Given the description of an element on the screen output the (x, y) to click on. 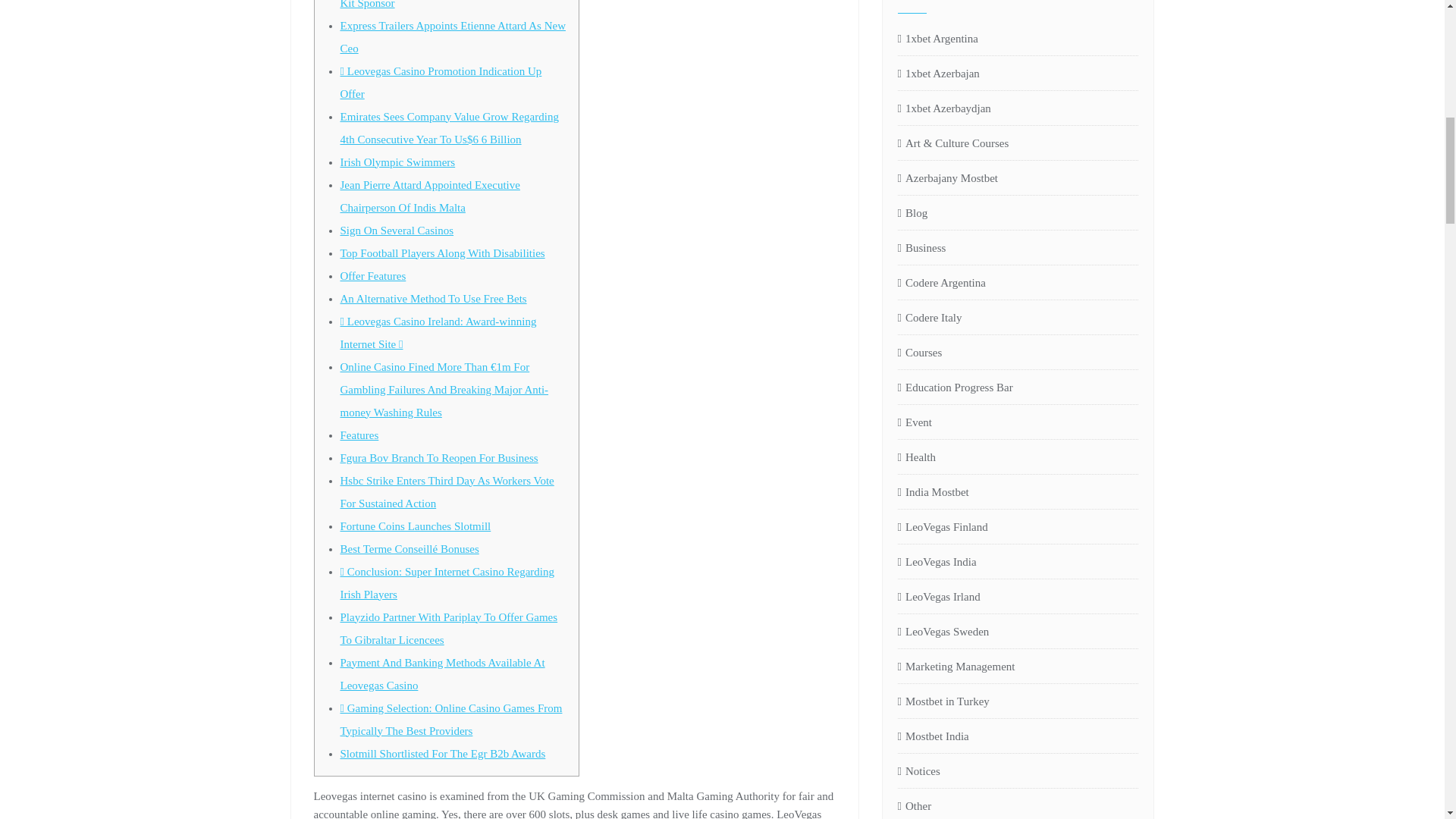
Offer Features (372, 275)
Inter Upgrade Leovegas Information To Training Kit Sponsor (450, 4)
Payment And Banking Methods Available At Leovegas Casino (441, 673)
Irish Olympic Swimmers (396, 162)
Fgura Bov Branch To Reopen For Business (438, 458)
An Alternative Method To Use Free Bets (432, 298)
Features (358, 435)
Express Trailers Appoints Etienne Attard As New Ceo (451, 36)
Slotmill Shortlisted For The Egr B2b Awards (441, 753)
Sign On Several Casinos (395, 230)
Top Football Players Along With Disabilities (441, 253)
Fortune Coins Launches Slotmill (414, 526)
